Given the description of an element on the screen output the (x, y) to click on. 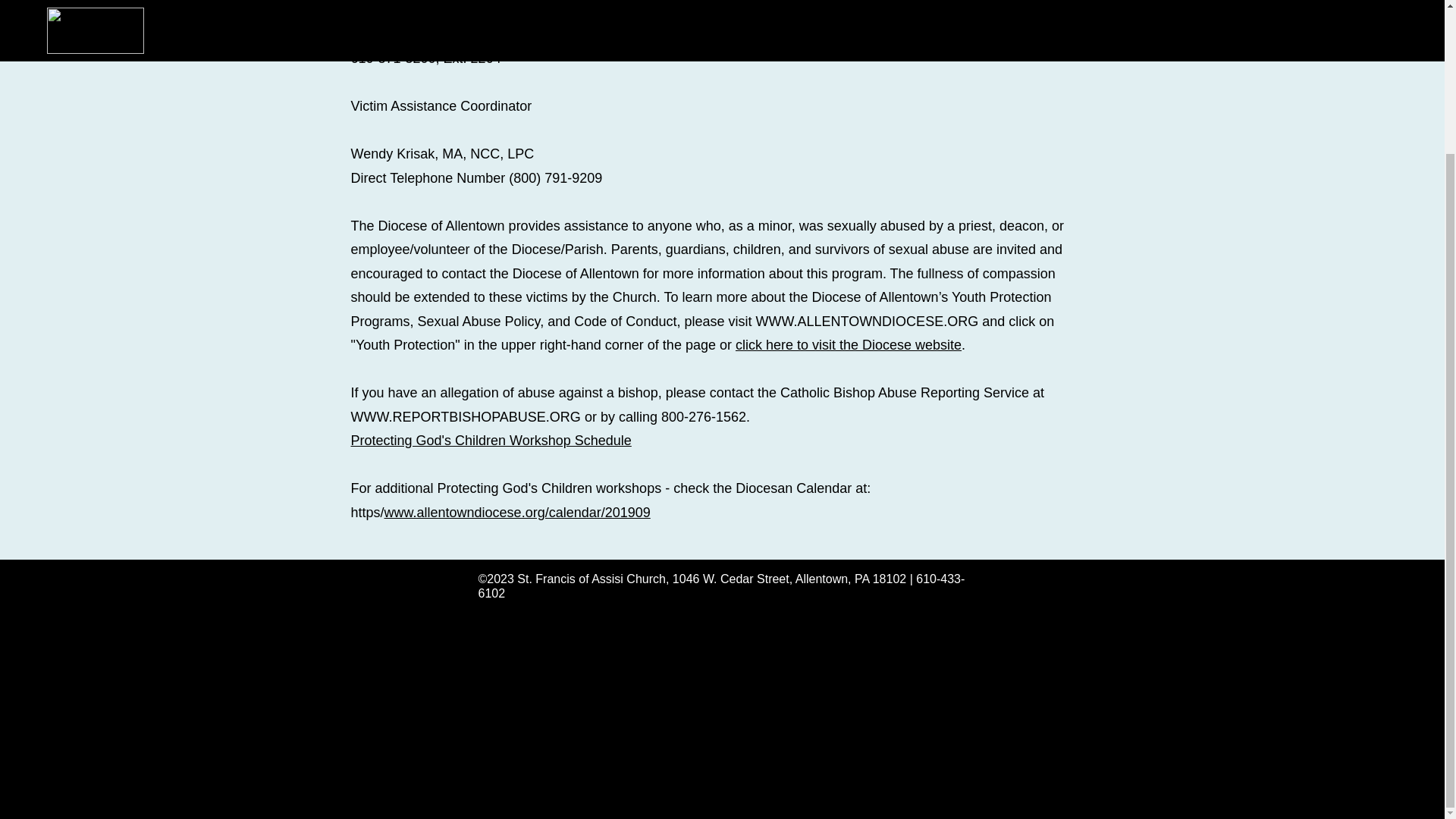
click here to visit the Diocese website (847, 344)
Protecting God's Children Workshop Schedule (490, 440)
WWW.ALLENTOWNDIOCESE.ORG (866, 320)
WWW.REPORTBISHOPABUSE.ORG (464, 416)
